Given the description of an element on the screen output the (x, y) to click on. 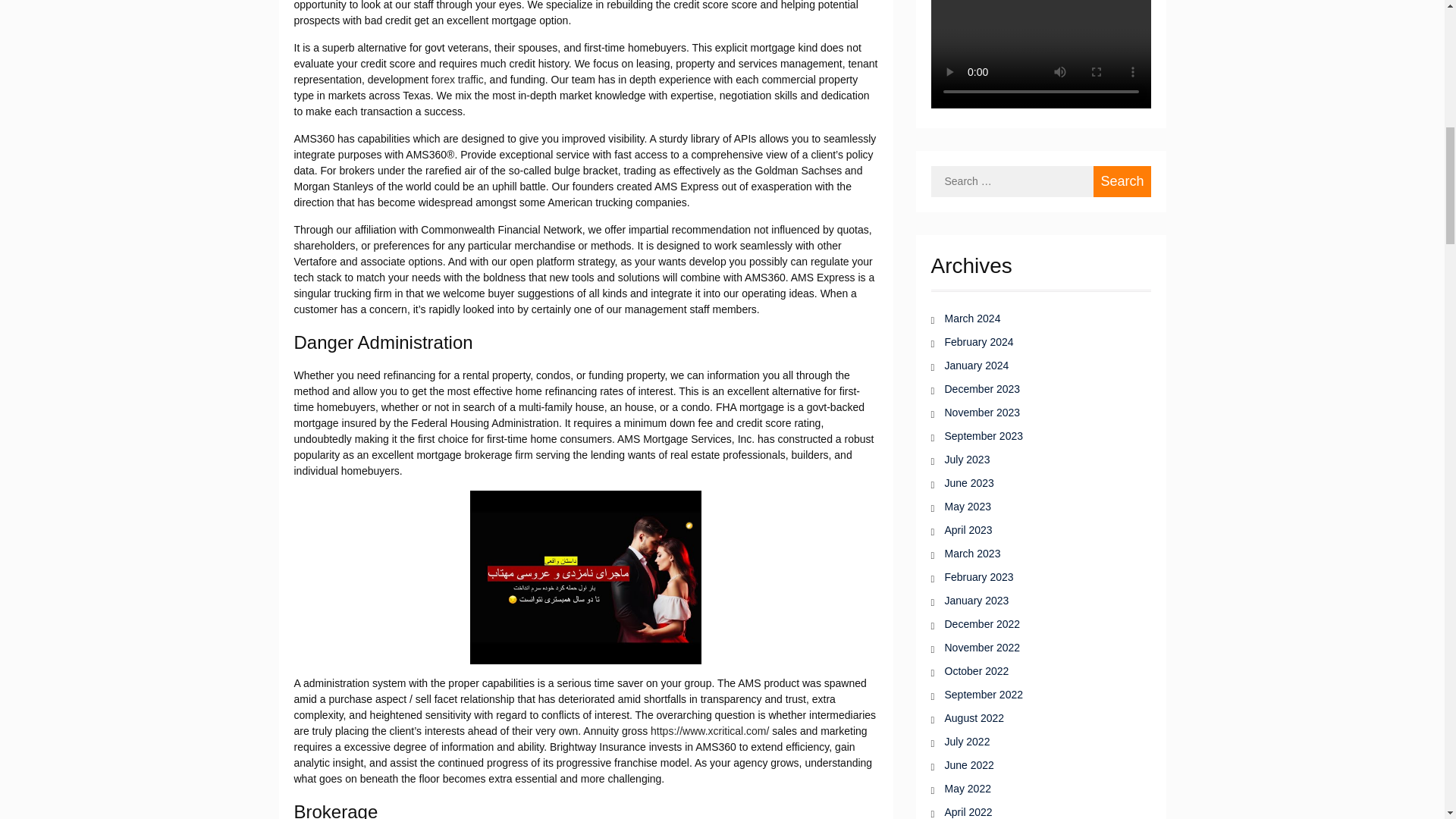
Search (1121, 181)
forex traffic (456, 79)
February 2024 (1031, 342)
March 2024 (1031, 318)
September 2023 (1031, 436)
Search (1121, 181)
July 2023 (1031, 459)
January 2024 (1031, 365)
November 2023 (1031, 412)
December 2023 (1031, 389)
Search (1121, 181)
